Given the description of an element on the screen output the (x, y) to click on. 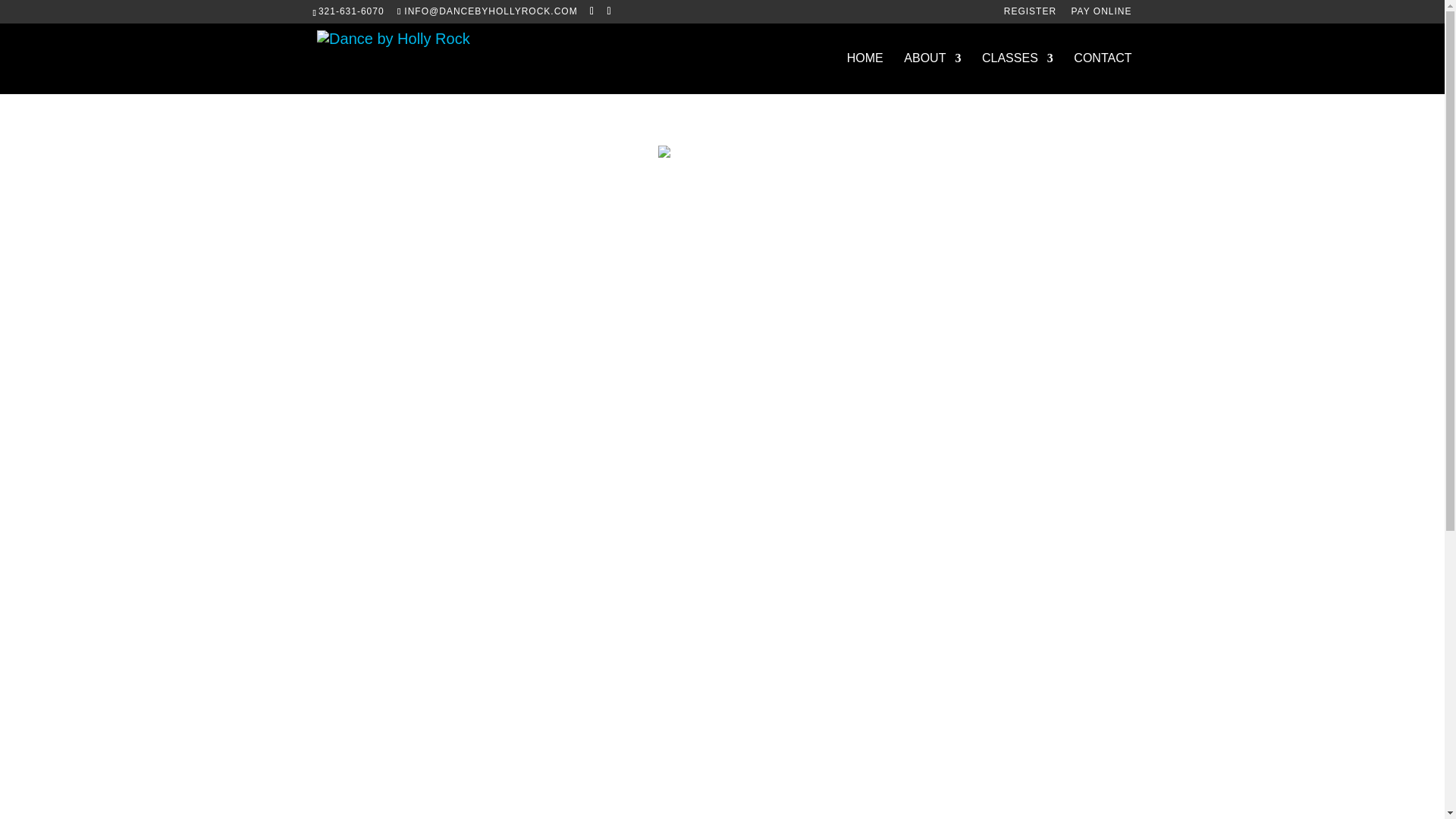
HOME (865, 73)
ABOUT (932, 73)
CLASSES (1016, 73)
REGISTER (1030, 14)
CONTACT (1102, 73)
PAY ONLINE (1100, 14)
321-631-6070 (351, 10)
dance header about 2-min (712, 151)
